Given the description of an element on the screen output the (x, y) to click on. 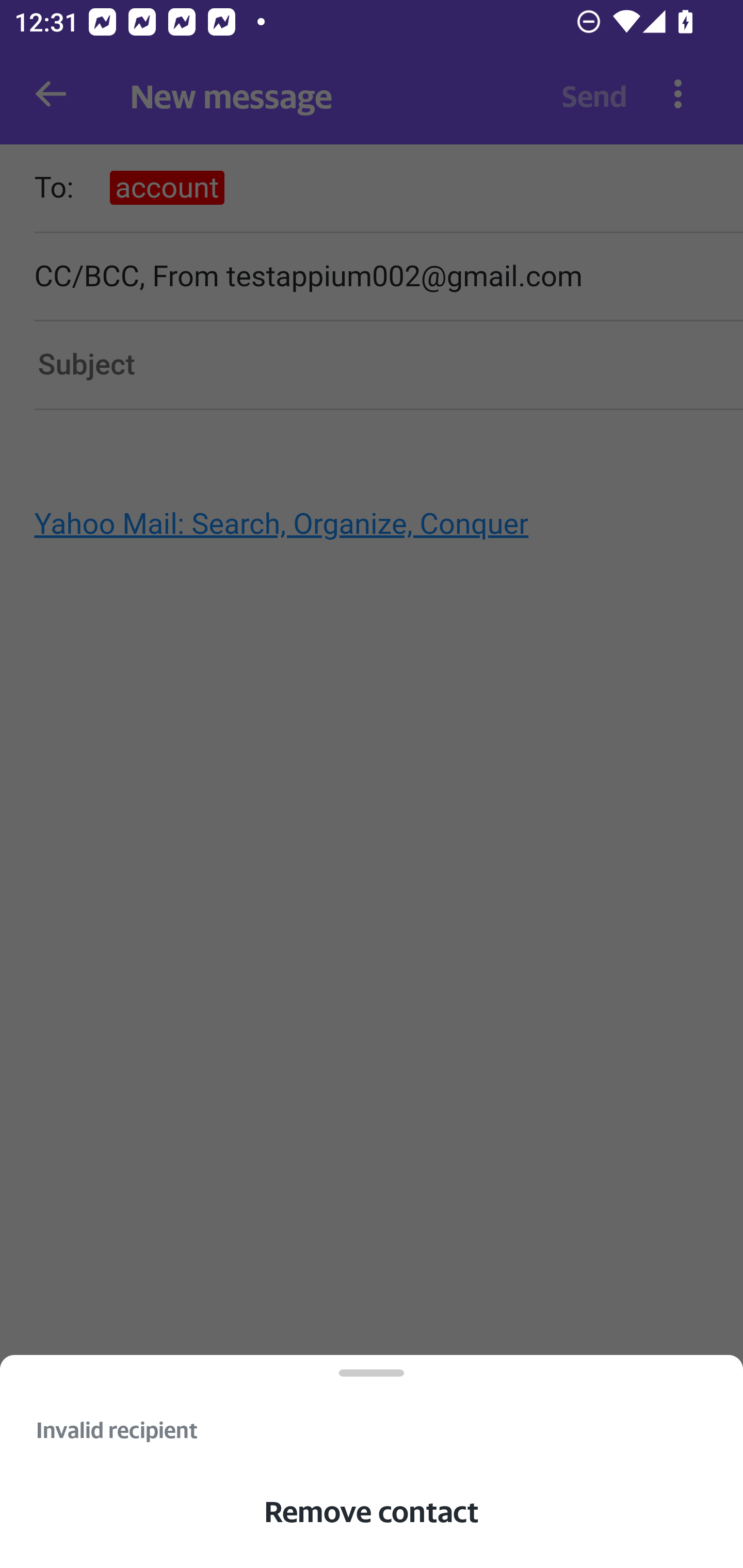
Remove contact (371, 1511)
